Given the description of an element on the screen output the (x, y) to click on. 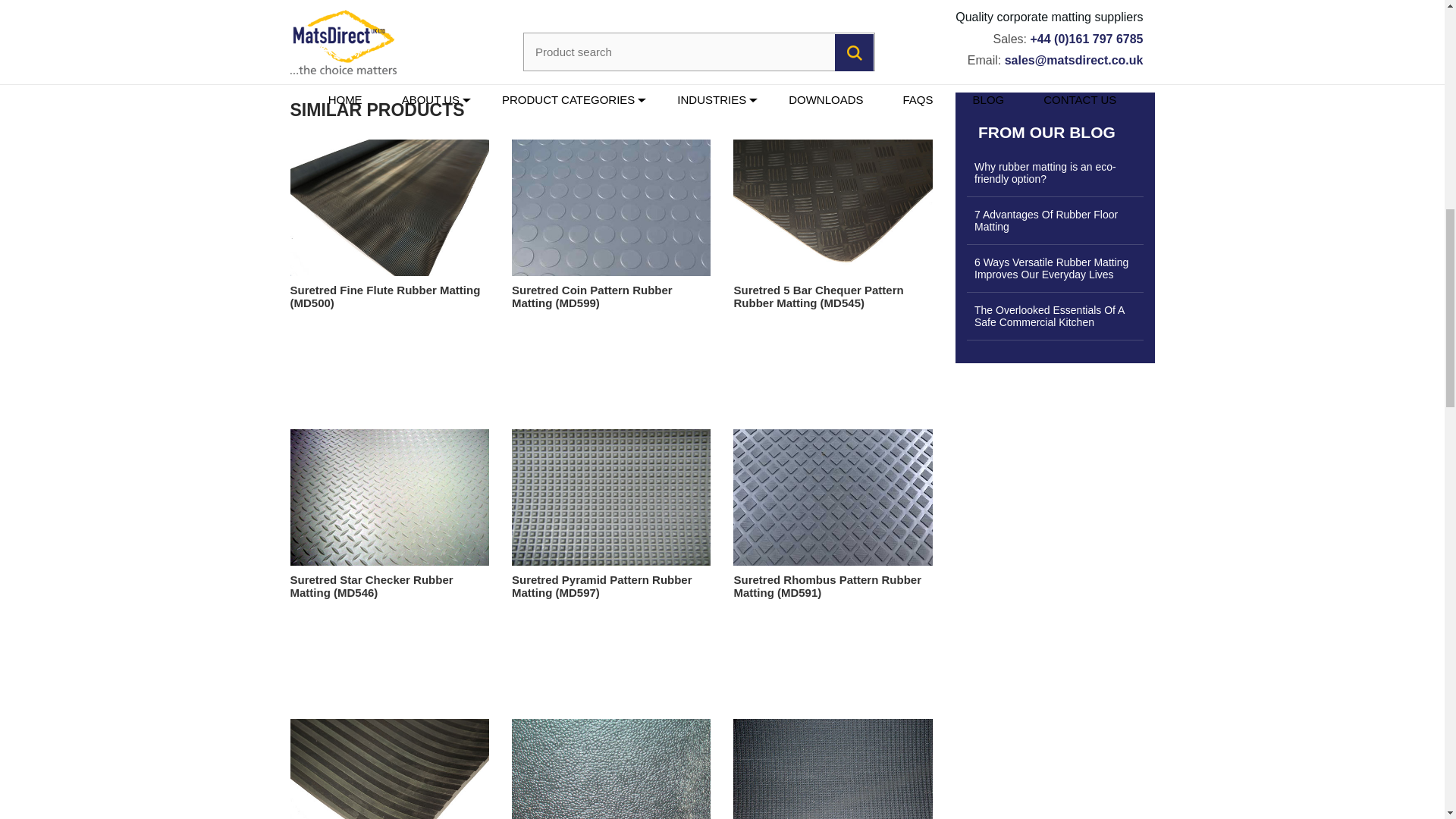
Enquire about this product (722, 19)
Enquire about this product (722, 19)
